Given the description of an element on the screen output the (x, y) to click on. 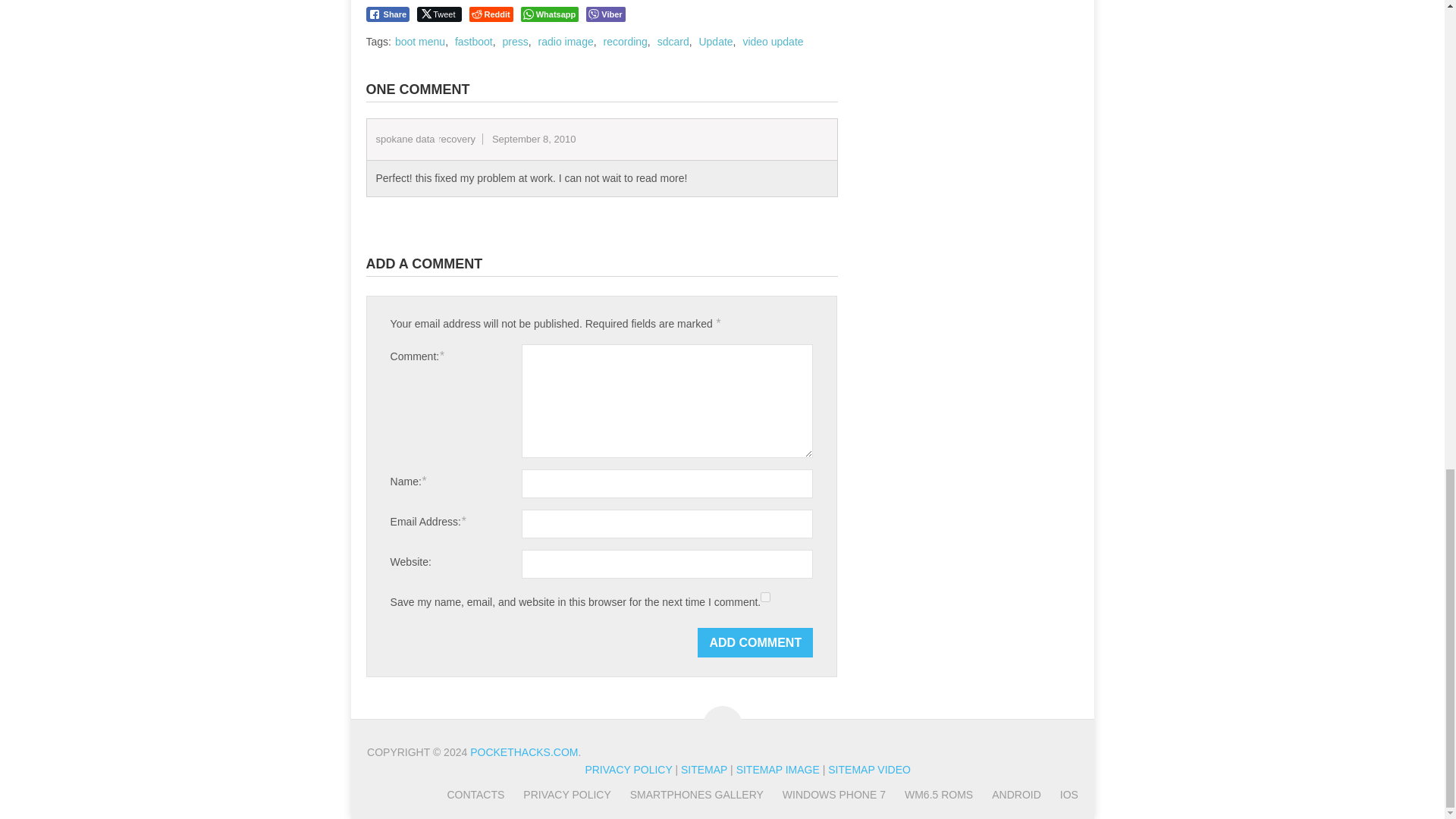
Tech news, gadgets, DIY electronics and mobile apps. (524, 752)
Add Comment (754, 642)
yes (765, 596)
